Given the description of an element on the screen output the (x, y) to click on. 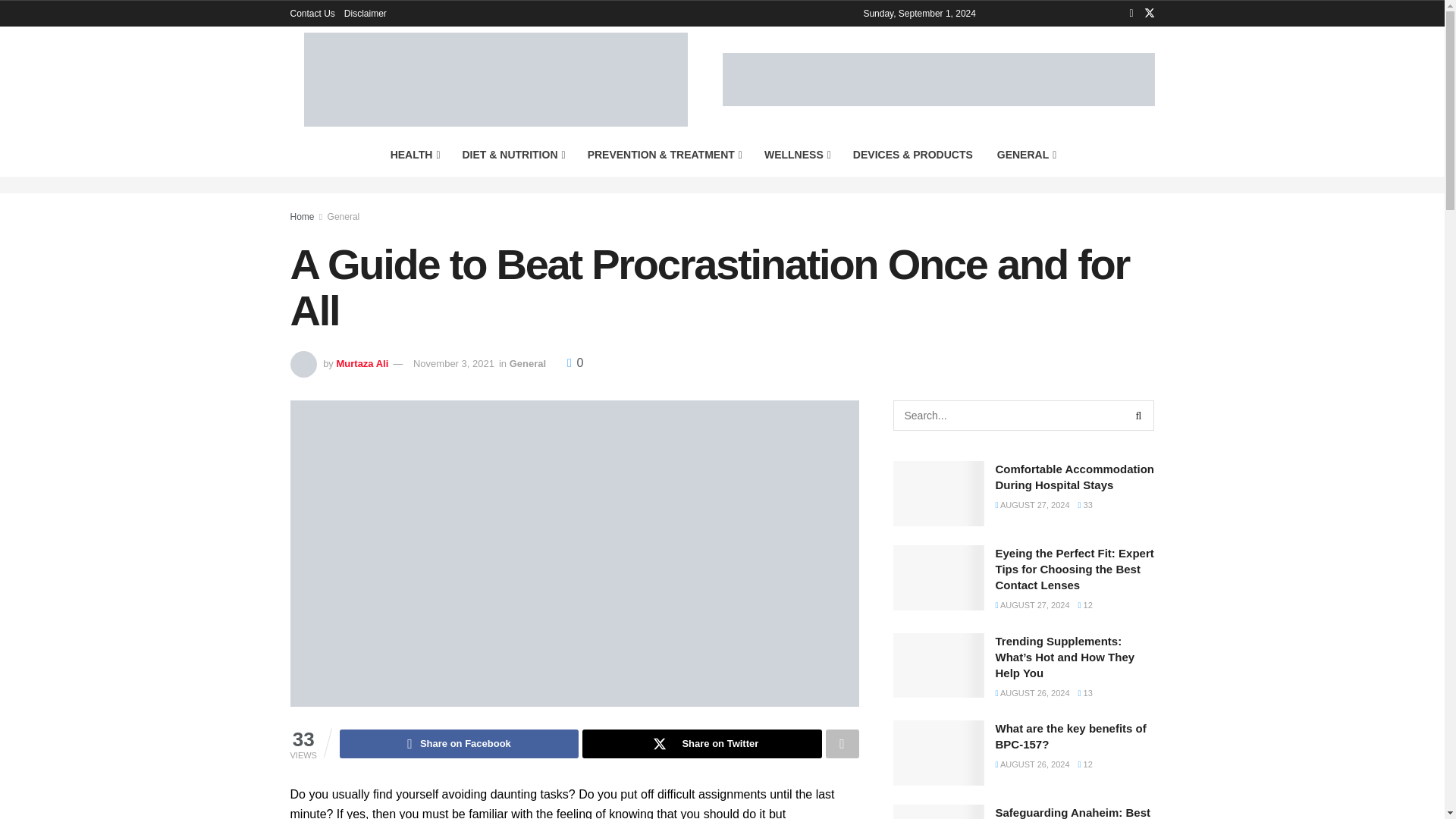
Disclaimer (365, 13)
HEALTH (413, 154)
WELLNESS (796, 154)
Contact Us (311, 13)
GENERAL (1026, 154)
